Given the description of an element on the screen output the (x, y) to click on. 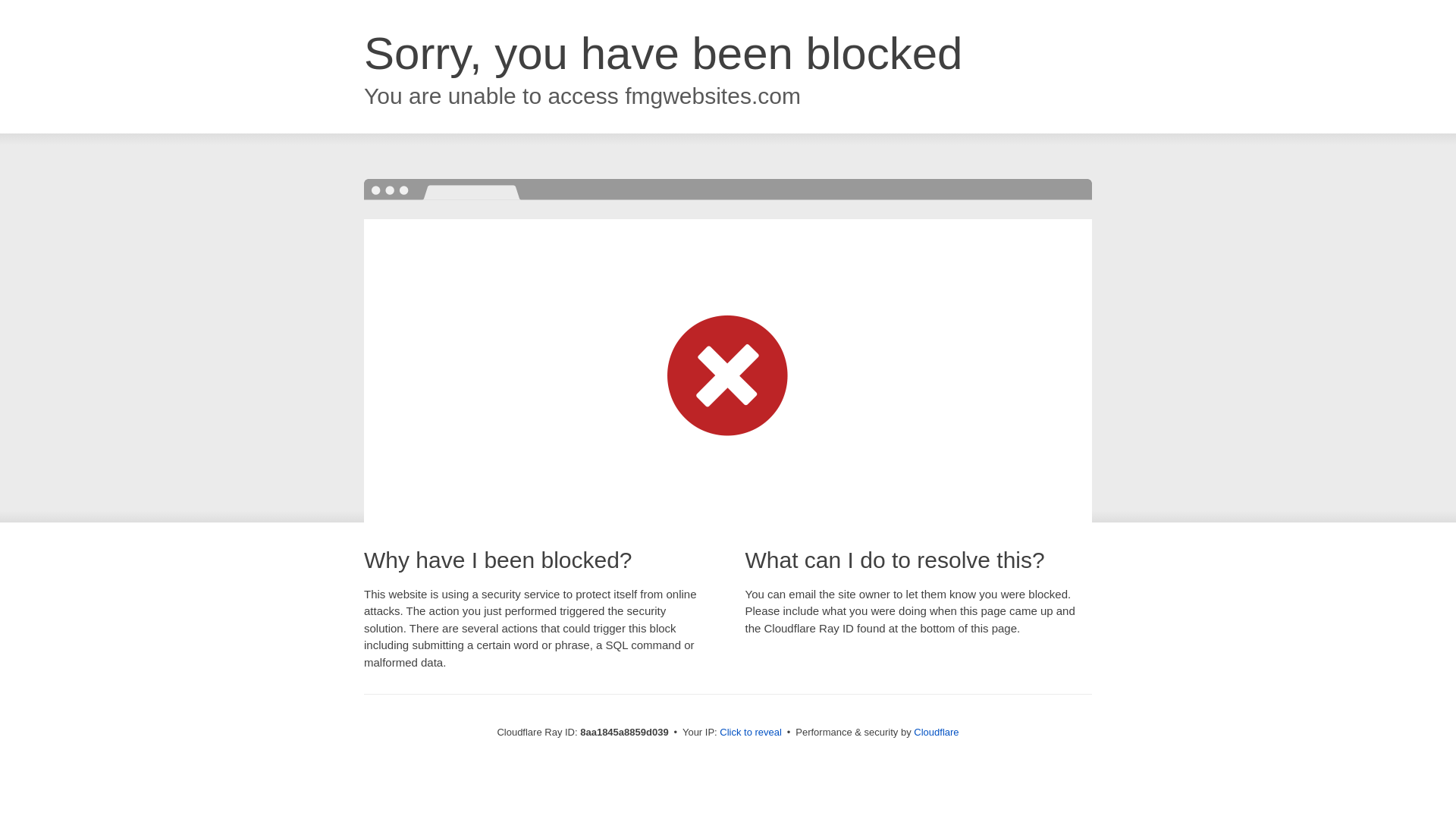
Cloudflare (936, 731)
Click to reveal (750, 732)
